Given the description of an element on the screen output the (x, y) to click on. 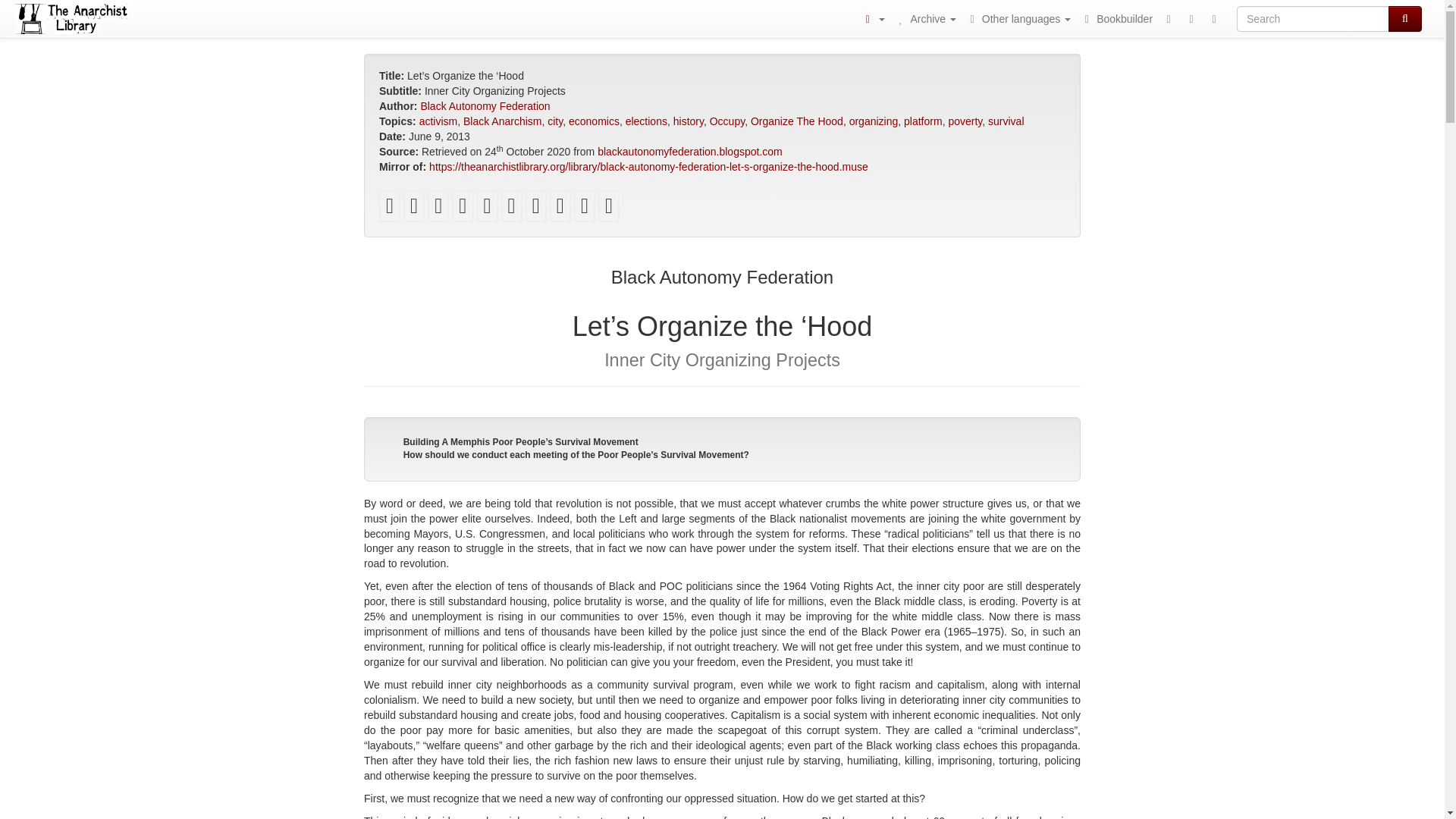
activism (438, 121)
Bookbuilder (1116, 18)
Search (1405, 18)
Black Anarchism (502, 121)
city (554, 121)
Black Autonomy Federation (485, 105)
Other languages (1017, 18)
texts by authors, title, topic... (924, 18)
elections (646, 121)
Archive (924, 18)
